Given the description of an element on the screen output the (x, y) to click on. 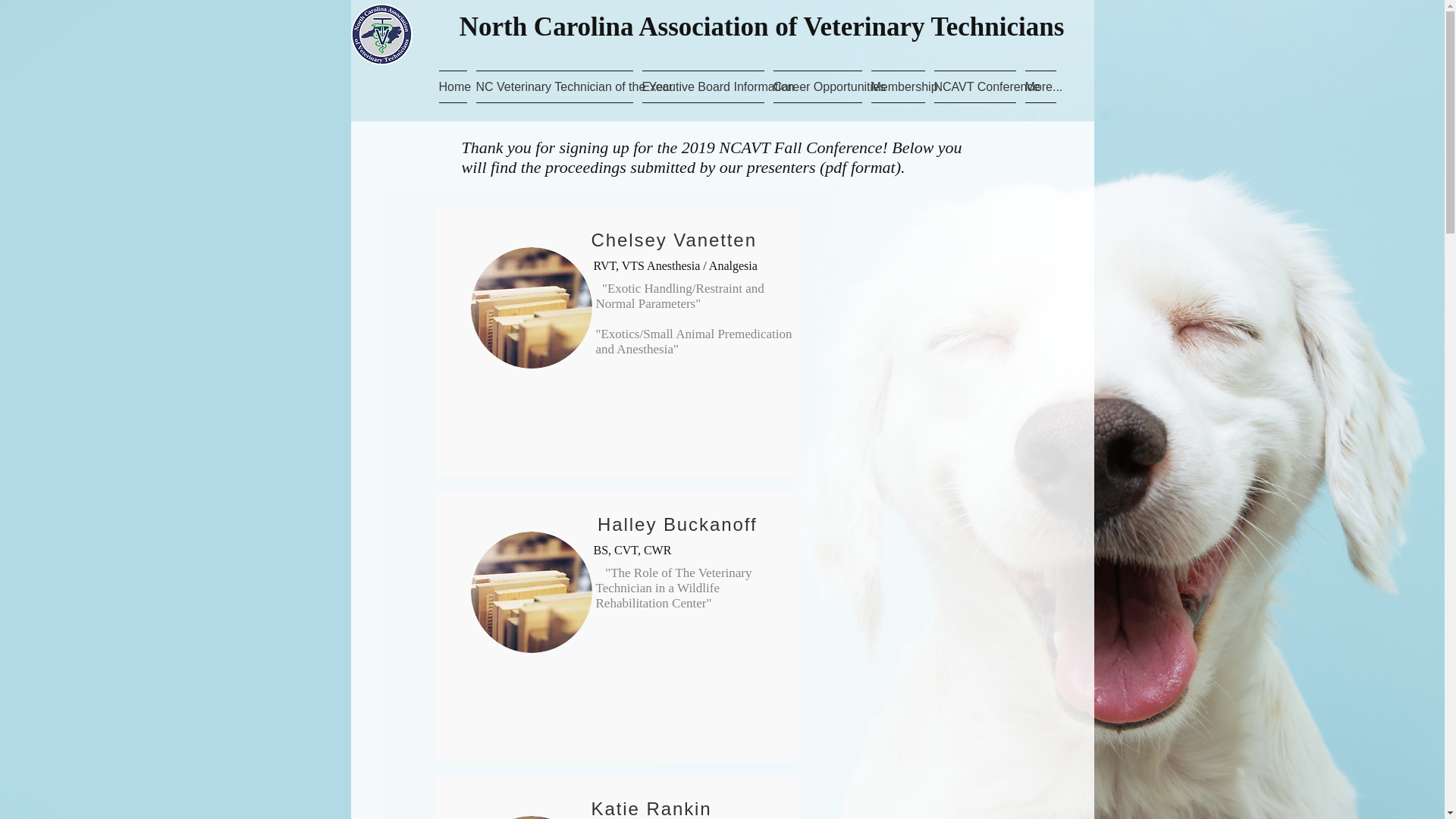
NC Veterinary Technician of the Year (554, 86)
Membership (897, 86)
NCAVT Conference (975, 86)
Home (454, 86)
Career Opportunities (817, 86)
